Given the description of an element on the screen output the (x, y) to click on. 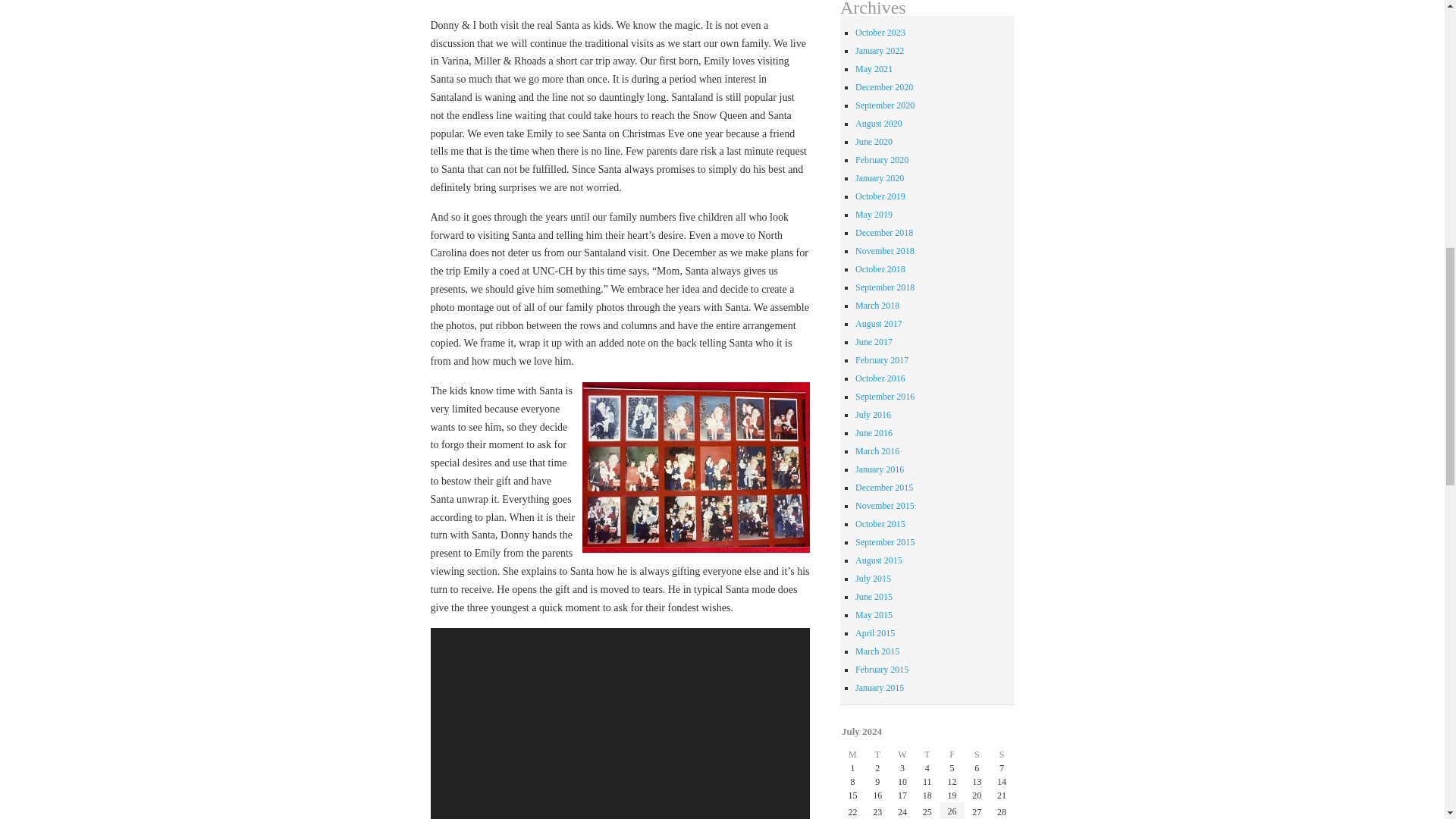
Tuesday (876, 754)
Saturday (976, 754)
Wednesday (902, 754)
Sunday (1002, 754)
Monday (852, 754)
Friday (951, 754)
Thursday (926, 754)
